Given the description of an element on the screen output the (x, y) to click on. 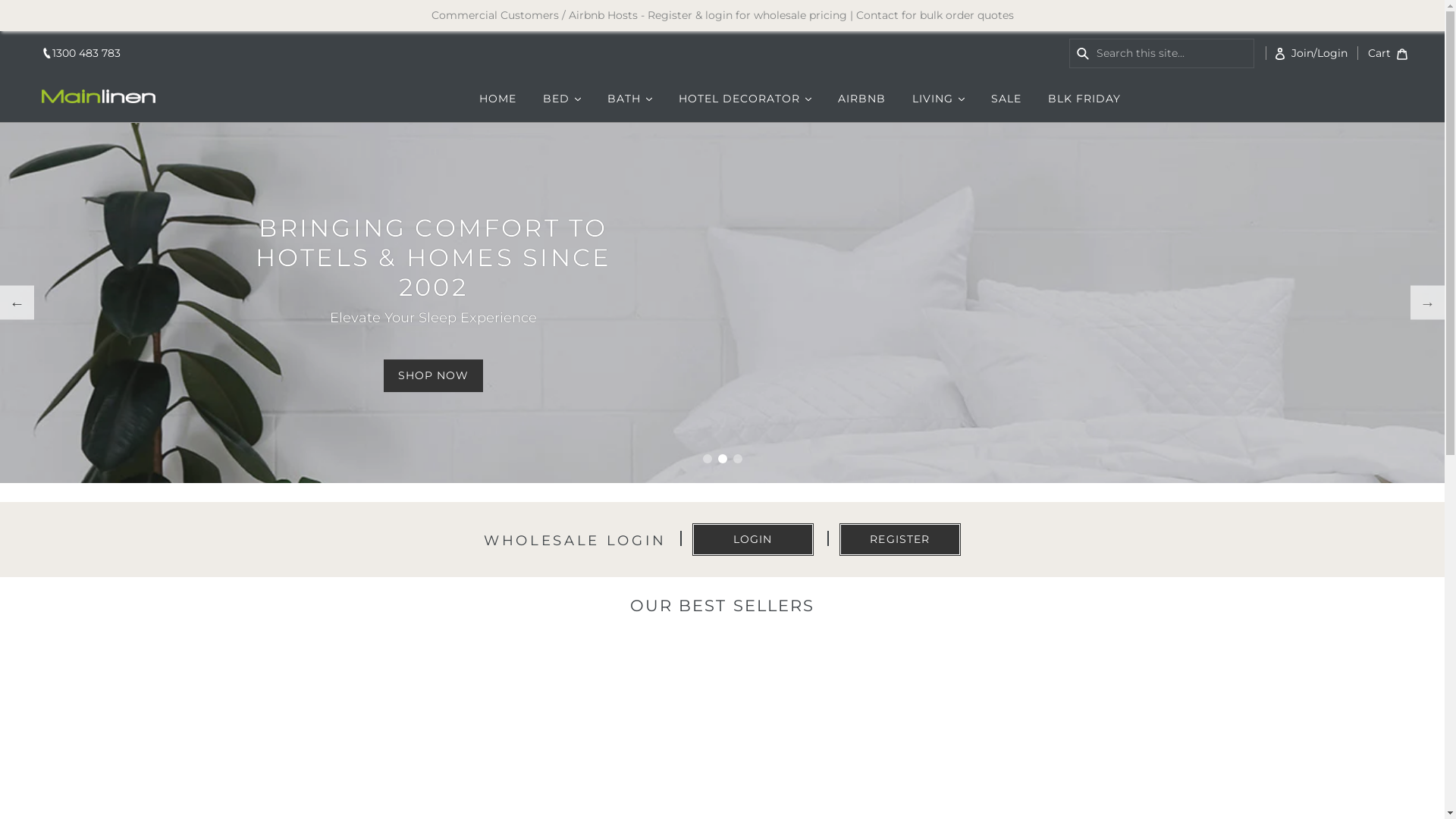
SALE Element type: text (1005, 98)
SHOP NOW Element type: text (433, 375)
LOGIN Element type: text (752, 539)
Slide 1 Element type: text (706, 458)
HOME Element type: text (497, 98)
Slide 2 Element type: text (721, 458)
Next slide Element type: text (1427, 302)
Previous slide Element type: text (17, 302)
Slide 3 Element type: text (736, 458)
REGISTER Element type: text (899, 539)
AIRBNB Element type: text (861, 98)
Cart
Cart
Cart Element type: text (1385, 52)
BLK FRIDAY Element type: text (1084, 98)
Submit Element type: text (1080, 53)
Join/Login
Log in Element type: text (1311, 52)
